Given the description of an element on the screen output the (x, y) to click on. 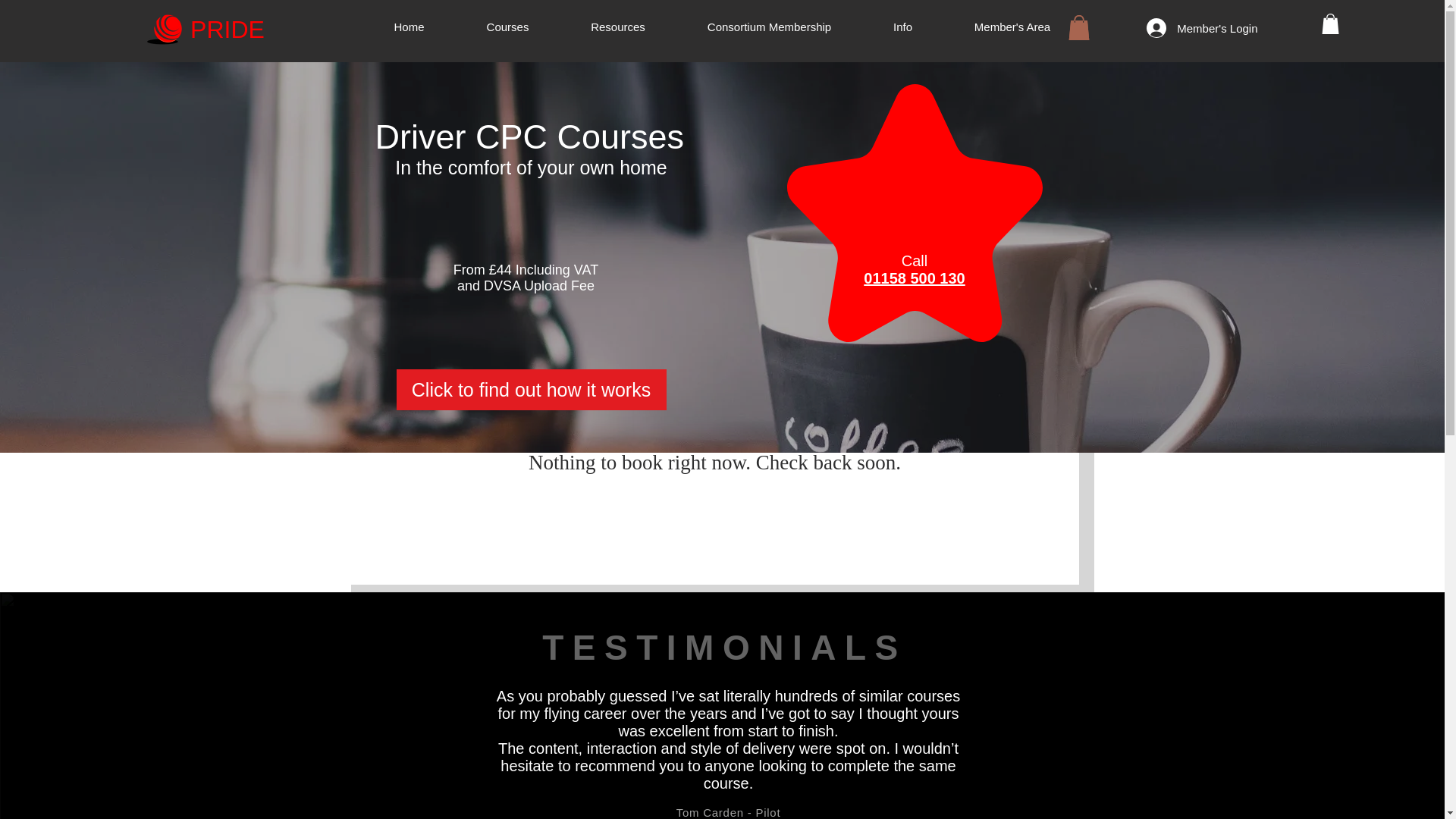
PRIDE (226, 29)
Home (408, 27)
01158 500 130 (913, 278)
Consortium Membership (770, 27)
Member's Login (1201, 27)
Click to find out how it works (530, 389)
